Given the description of an element on the screen output the (x, y) to click on. 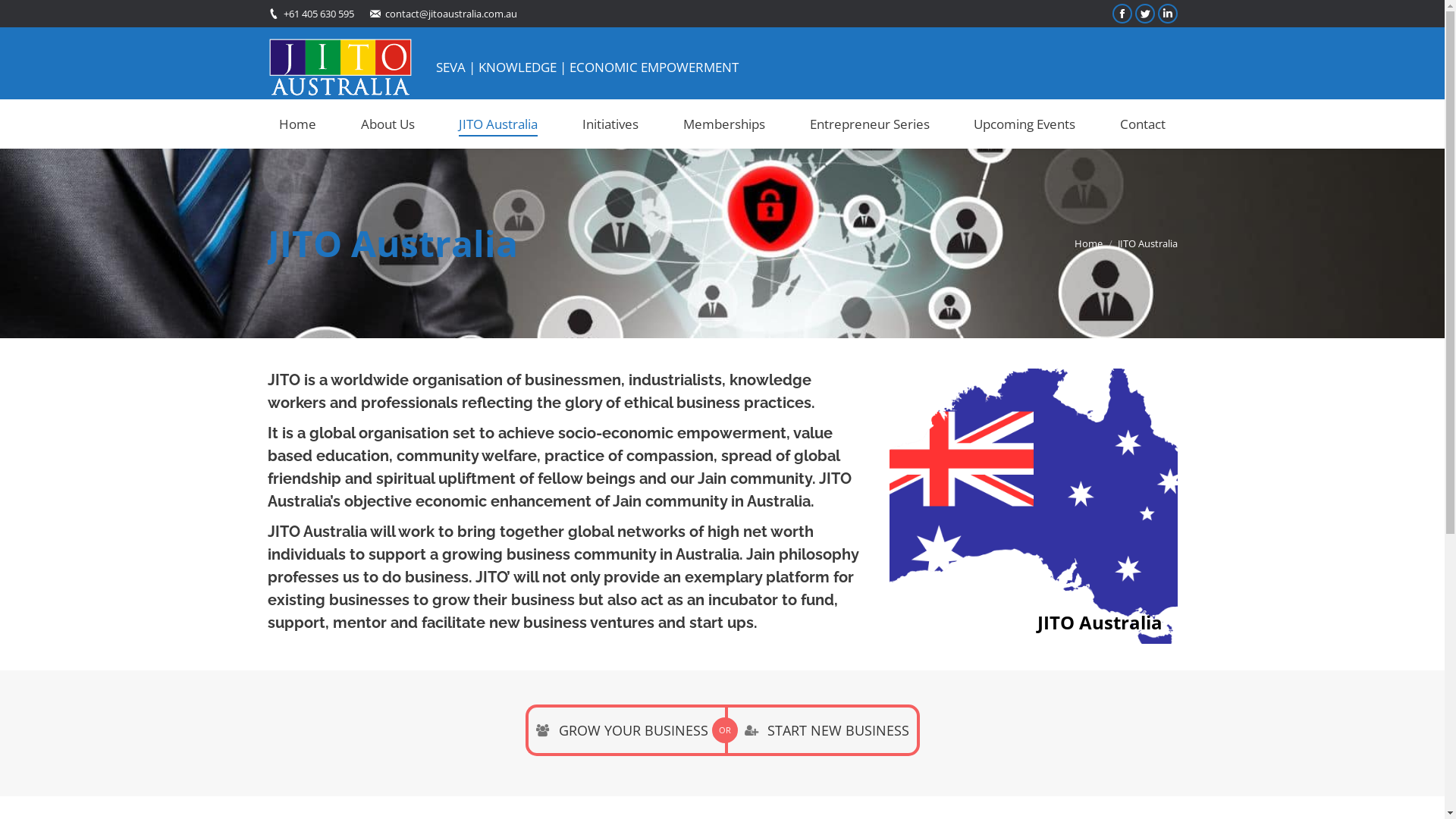
START NEW BUSINESS Element type: text (821, 730)
contact@jitoaustralia.com.au Element type: text (451, 13)
GROW YOUR BUSINESS Element type: text (624, 730)
Initiatives Element type: text (610, 123)
Linkedin Element type: text (1166, 13)
Home Element type: text (1087, 243)
About Us Element type: text (387, 123)
Entrepreneur Series Element type: text (869, 123)
Home Element type: text (296, 123)
Facebook Element type: text (1121, 13)
+61 405 630 595 Element type: text (318, 13)
Upcoming Events Element type: text (1024, 123)
Memberships Element type: text (724, 123)
Twitter Element type: text (1144, 13)
Contact Element type: text (1142, 123)
JITO Australia Element type: text (498, 123)
